Given the description of an element on the screen output the (x, y) to click on. 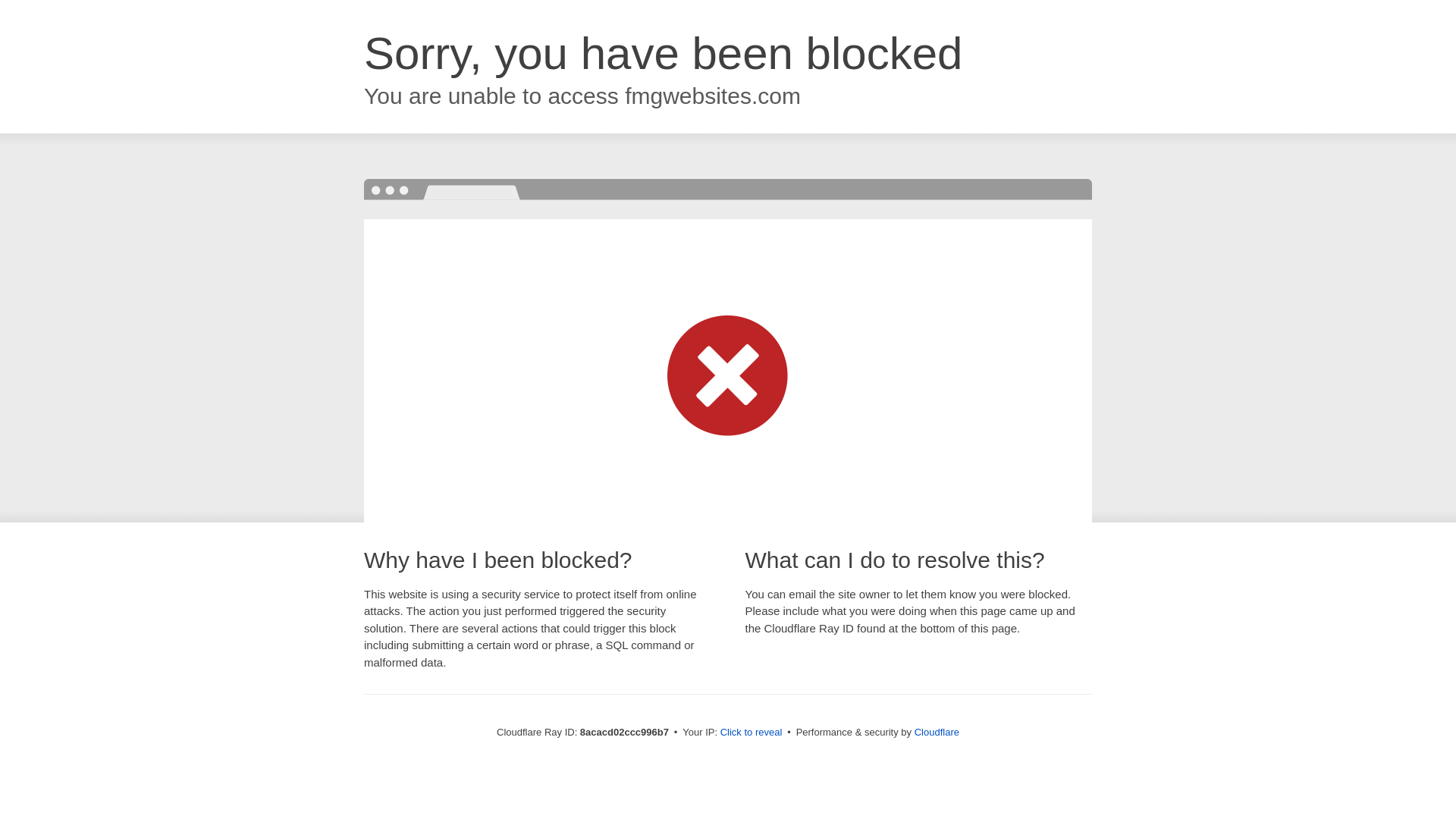
Cloudflare (936, 731)
Click to reveal (751, 732)
